Given the description of an element on the screen output the (x, y) to click on. 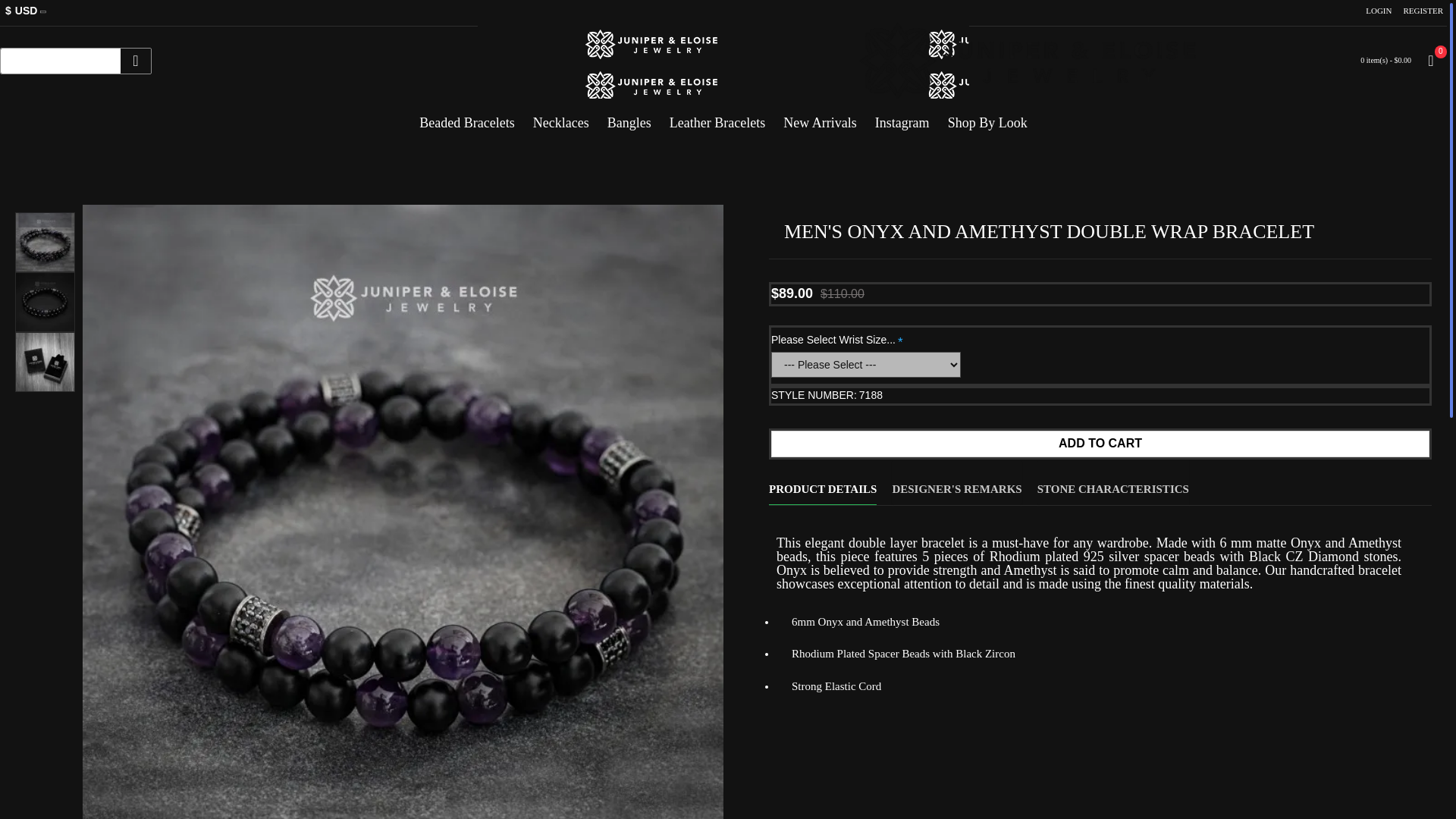
Beaded Bracelets (466, 117)
LOGIN (1377, 11)
PRODUCT DETAILS (822, 481)
Men's  Onyx and Amethyst Double Wrap Bracelet (44, 301)
Men's  Onyx and Amethyst Double Wrap Bracelet (44, 362)
Instagram (902, 117)
DESIGNER'S REMARKS (956, 481)
luxe (60, 60)
Shop By Look (987, 117)
Bangles (629, 117)
